Given the description of an element on the screen output the (x, y) to click on. 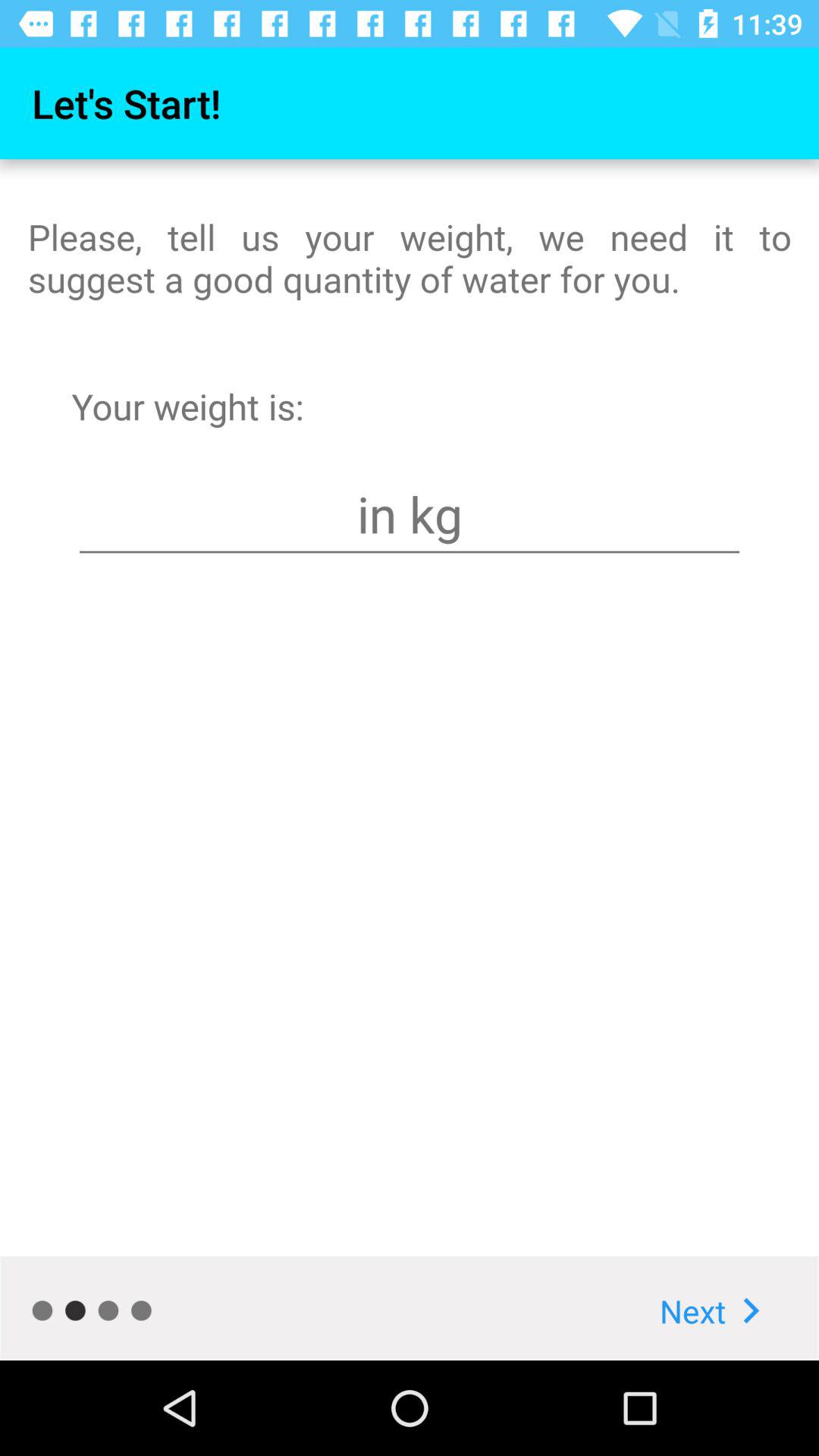
input weight (409, 514)
